Given the description of an element on the screen output the (x, y) to click on. 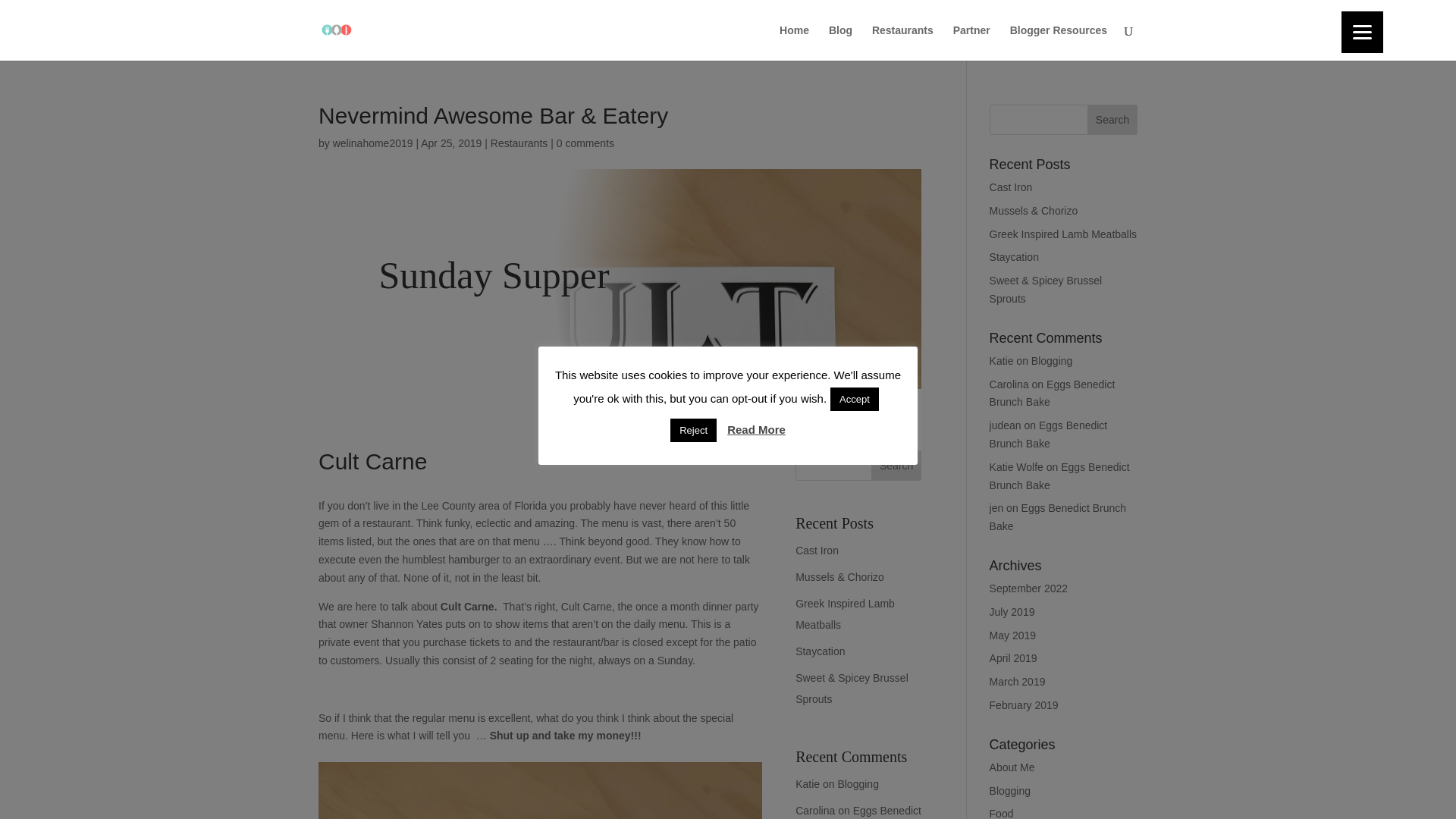
0 comments (585, 143)
Katie (806, 784)
Greek Inspired Lamb Meatballs (844, 613)
Partner (971, 42)
Search (1112, 119)
Search (895, 465)
Blogger Resources (1058, 42)
Eggs Benedict Brunch Bake (857, 811)
Restaurants (518, 143)
Restaurants (902, 42)
